Given the description of an element on the screen output the (x, y) to click on. 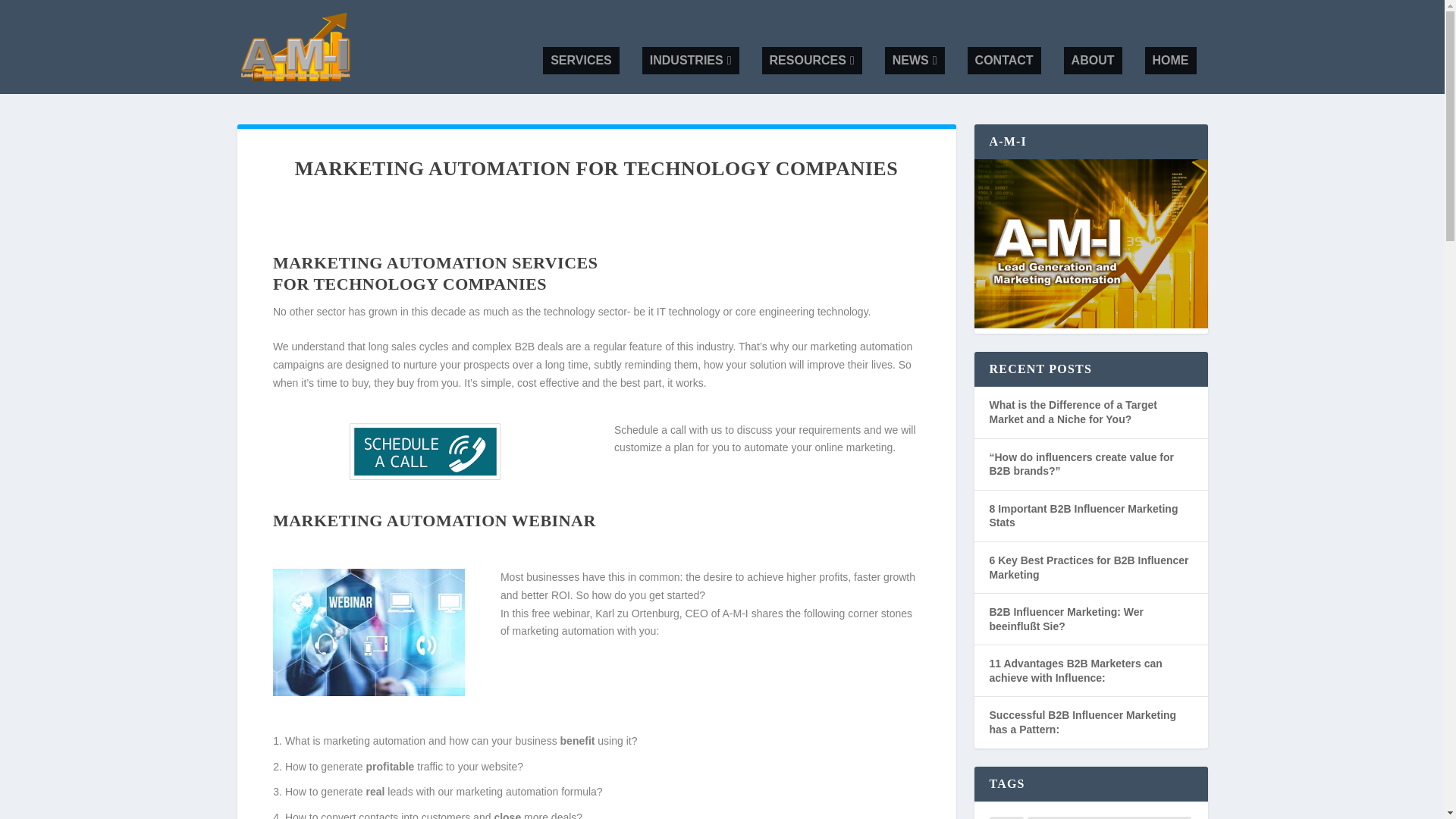
RESOURCES (811, 60)
ABOUT (1093, 60)
SERVICES (581, 60)
INDUSTRIES (690, 60)
A-M-I Marketing Automation System (1090, 243)
NEWS (914, 60)
8 Important B2B Influencer Marketing Stats (1082, 515)
6 Key Best Practices for B2B Influencer Marketing (1088, 567)
CONTACT (1004, 60)
